Given the description of an element on the screen output the (x, y) to click on. 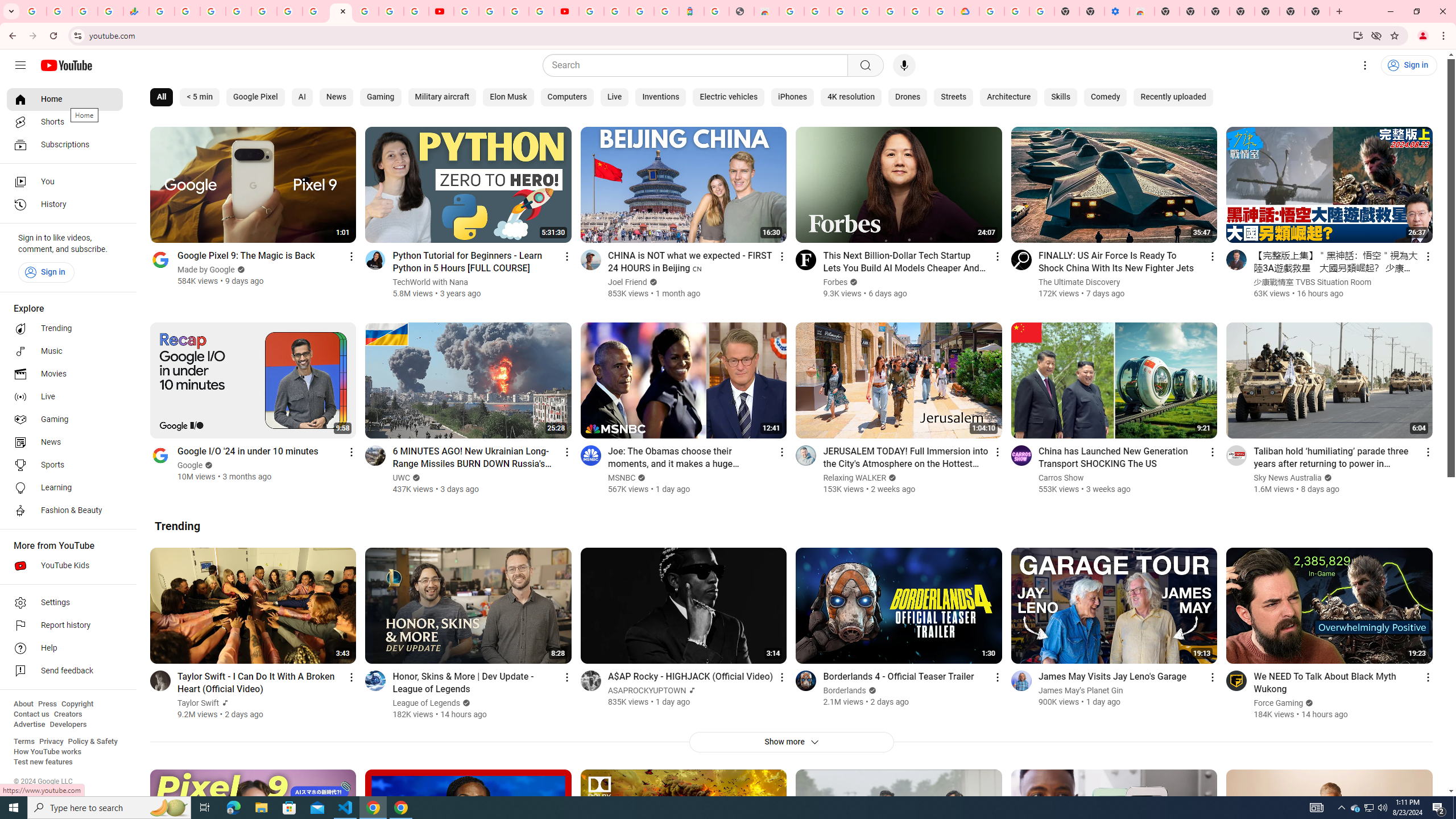
YouTube Home (66, 65)
Google (190, 465)
YouTube (465, 11)
YouTube Kids (64, 565)
Google Account Help (1016, 11)
Carros Show (1061, 477)
Force Gaming (1278, 702)
TechWorld with Nana (430, 282)
Live (613, 97)
Inventions (659, 97)
The Ultimate Discovery (1079, 282)
